Given the description of an element on the screen output the (x, y) to click on. 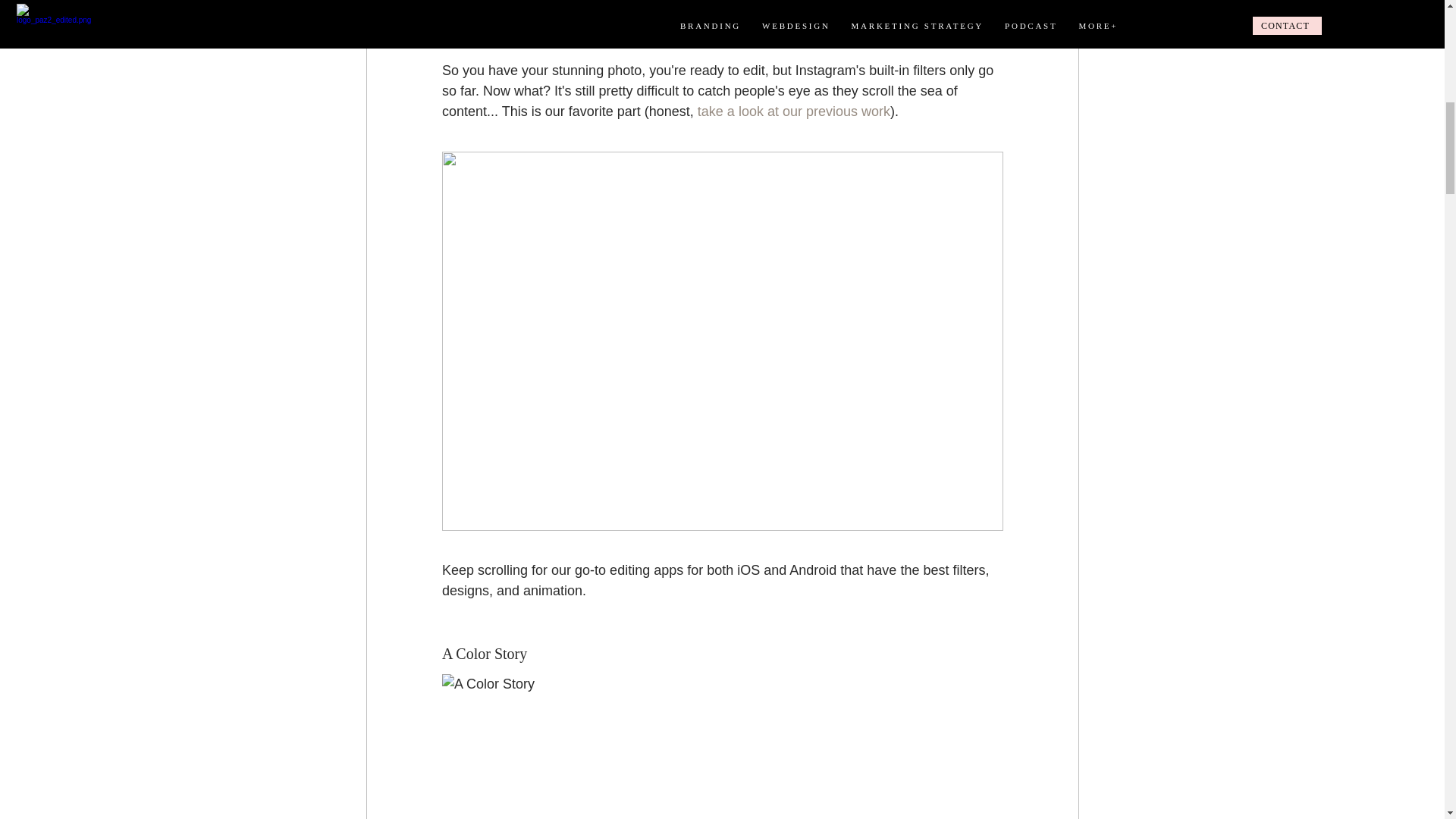
take a look at our previous work (793, 111)
